Given the description of an element on the screen output the (x, y) to click on. 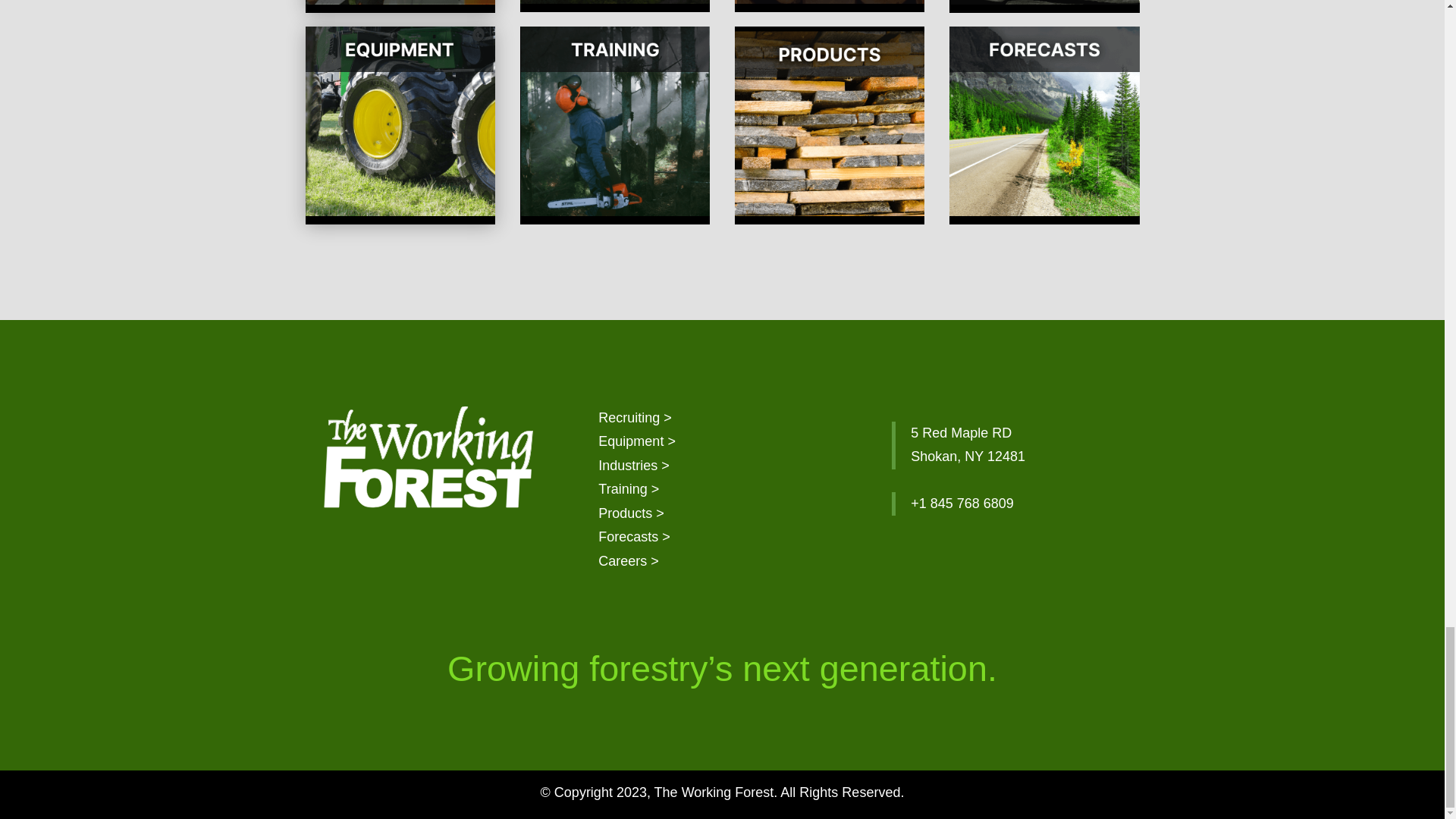
Products (630, 513)
Industries (633, 465)
Training Information (628, 488)
Recruiting Information (634, 417)
Forcasts (633, 536)
Career Information (628, 560)
Equipment Information (636, 441)
